Given the description of an element on the screen output the (x, y) to click on. 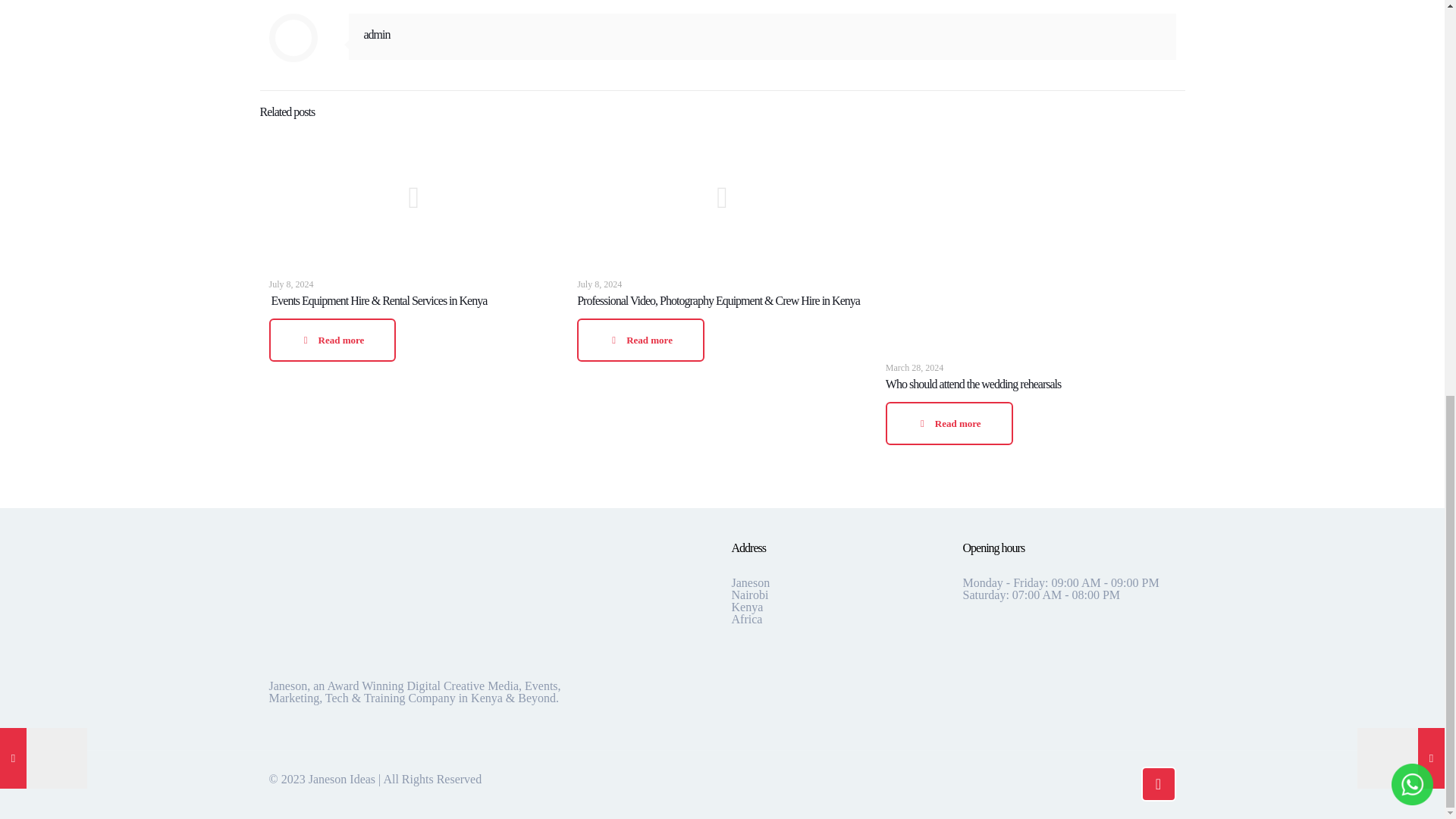
Read more (949, 423)
Read more (331, 339)
Read more (640, 339)
Who should attend the wedding rehearsals (973, 383)
admin (377, 33)
